Given the description of an element on the screen output the (x, y) to click on. 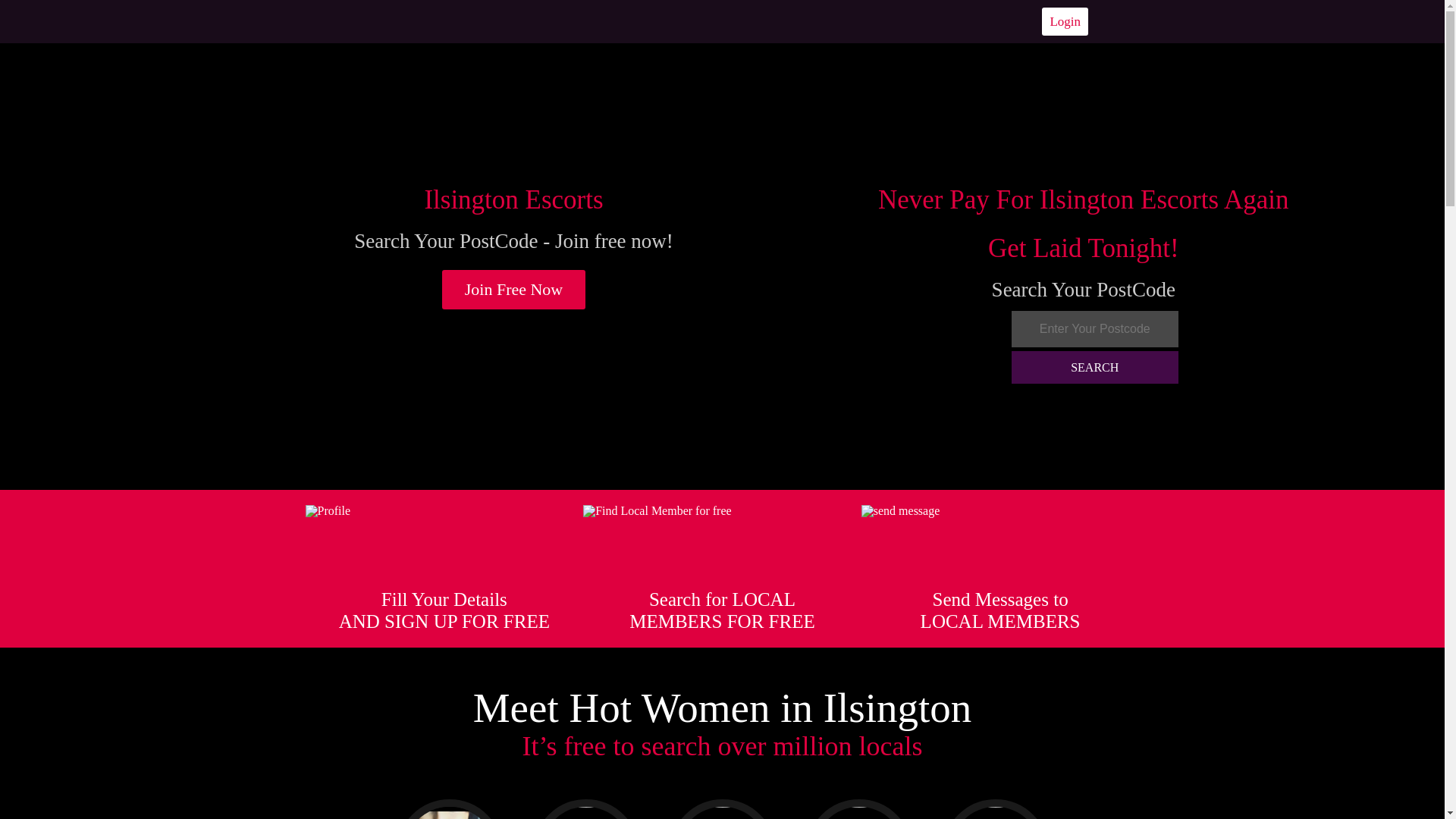
Join (514, 289)
Login (1064, 21)
Join Free Now (514, 289)
SEARCH (1094, 367)
Login (1064, 21)
